Given the description of an element on the screen output the (x, y) to click on. 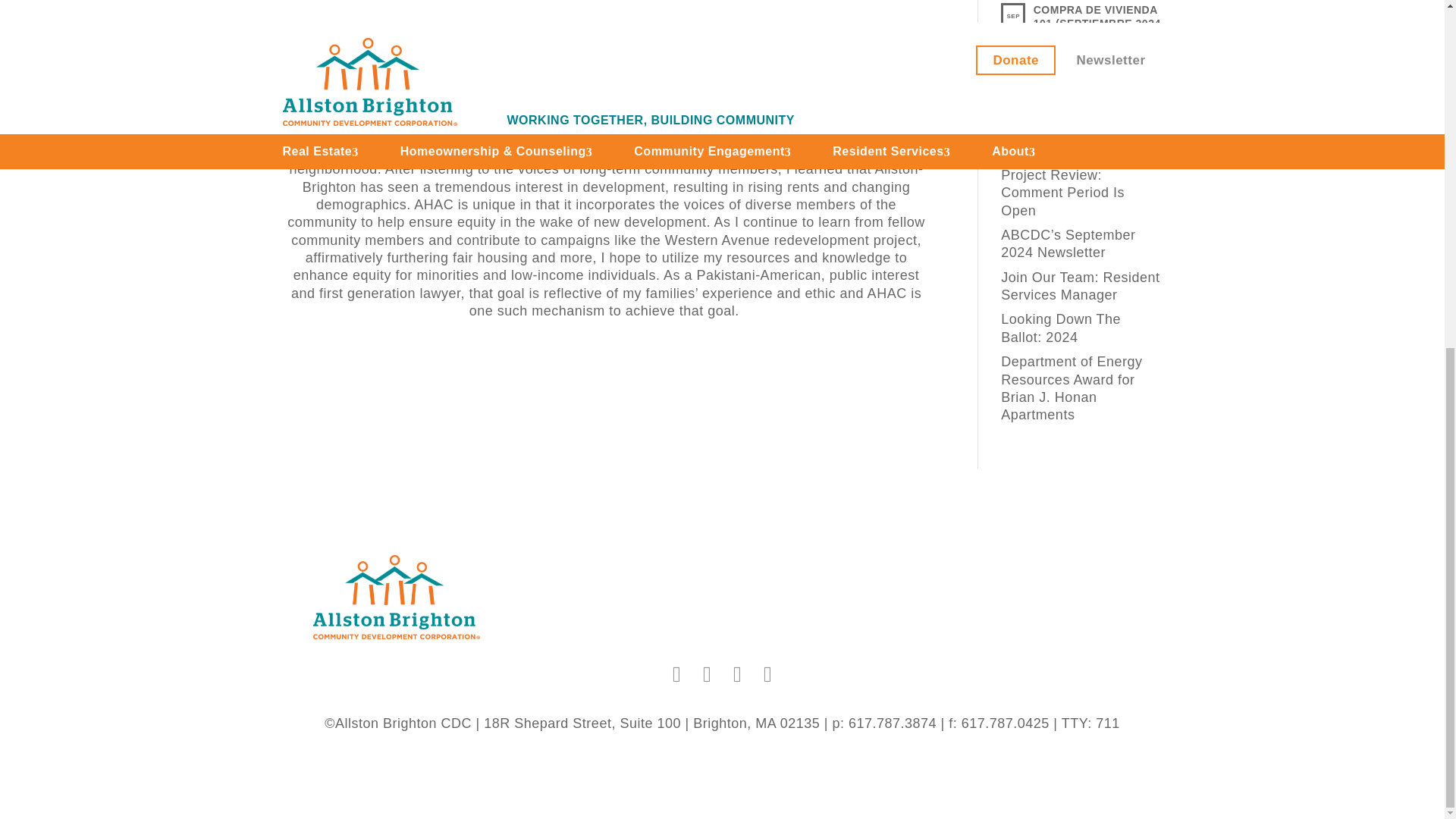
Facebook (675, 673)
Youtube (766, 673)
Twitter (706, 673)
Instagram (737, 673)
